Given the description of an element on the screen output the (x, y) to click on. 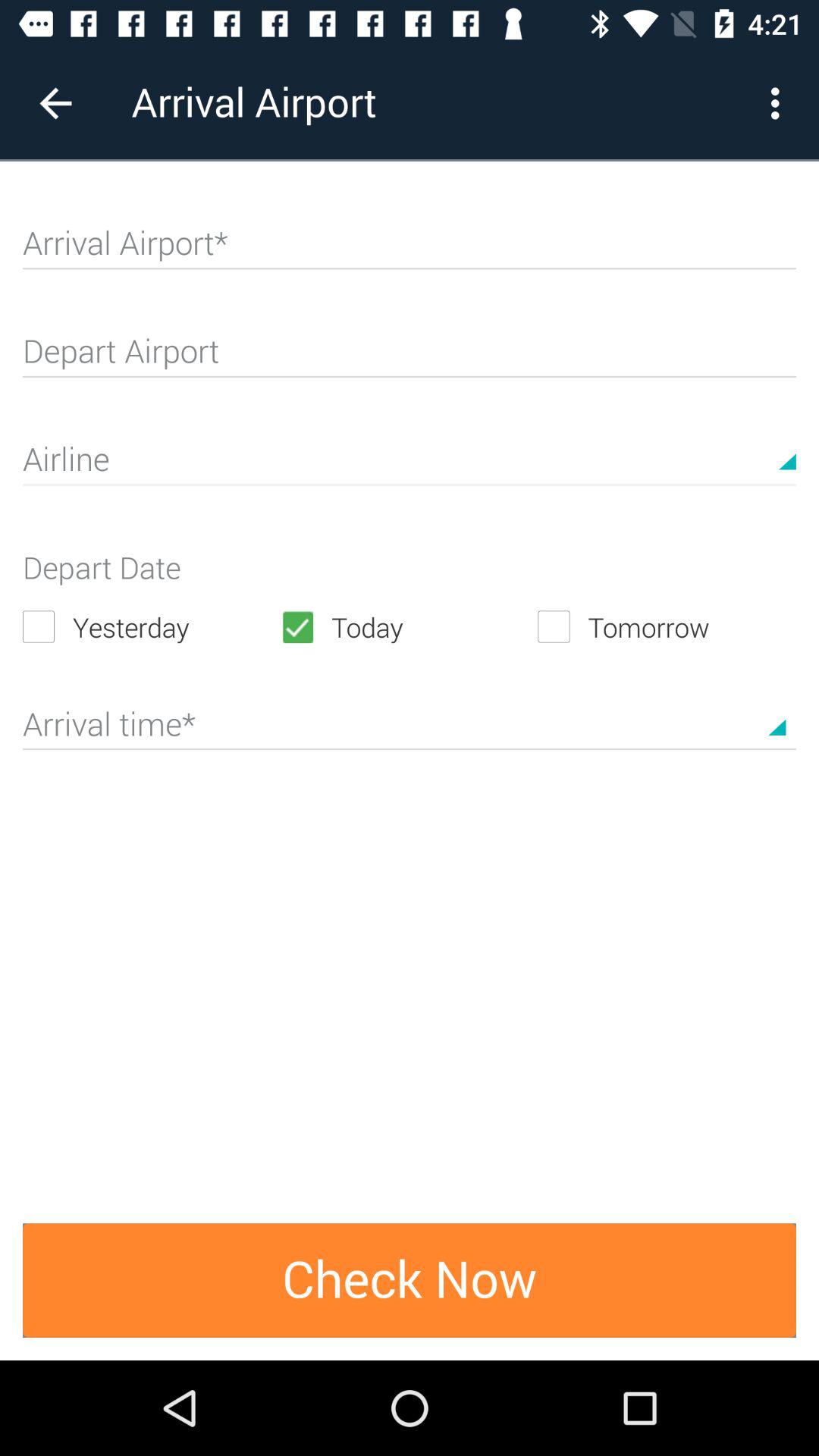
turn on icon below depart date (151, 626)
